Given the description of an element on the screen output the (x, y) to click on. 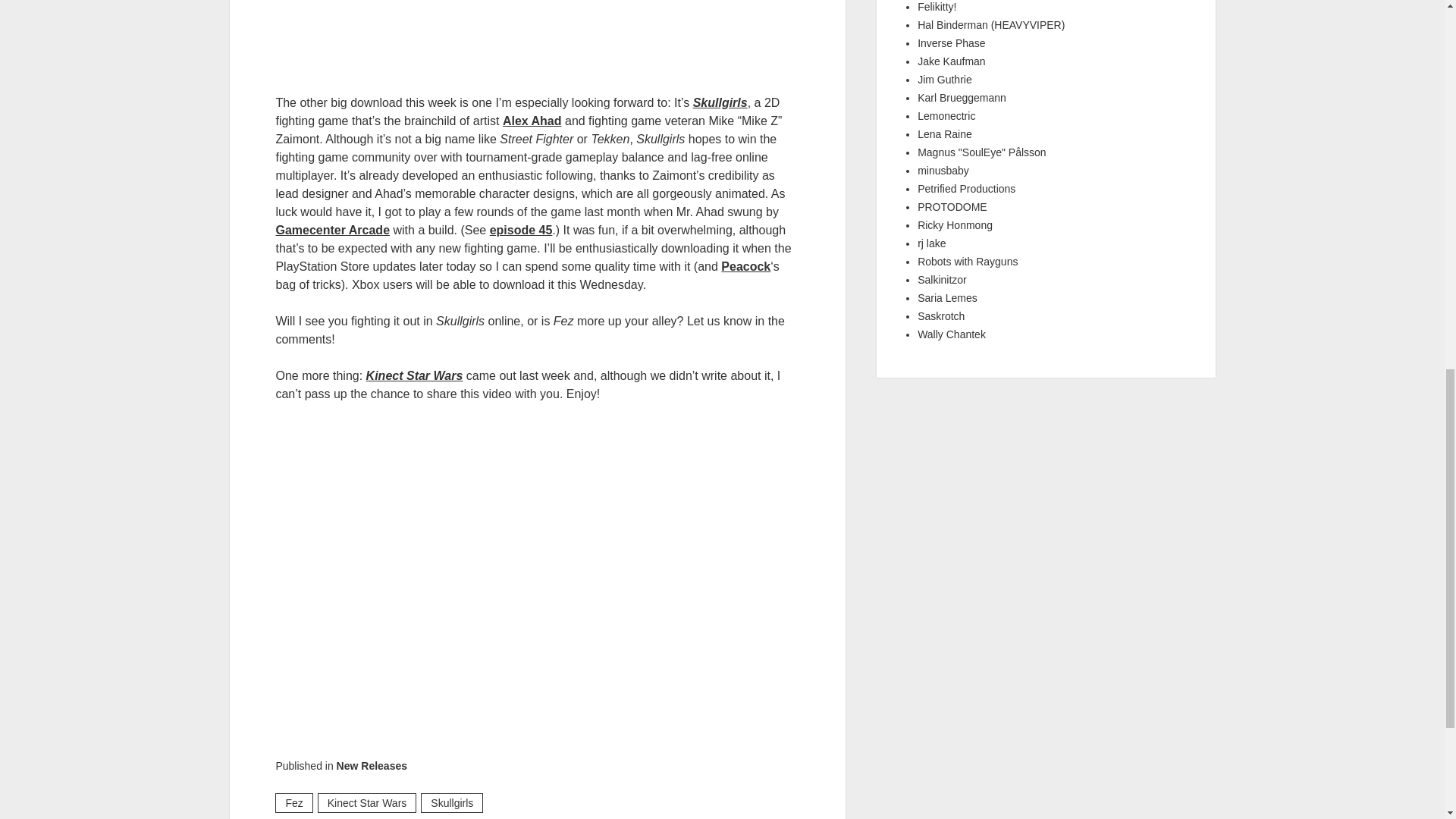
Peacock (745, 266)
Fez (294, 803)
Gamecenter Arcade (332, 229)
Skullgirls (537, 38)
Kinect Star Wars (366, 803)
View all posts in New Releases (371, 766)
Alex Ahad (532, 120)
Skullgirls (720, 102)
View all posts tagged Fez (294, 803)
episode 45 (521, 229)
Kinect Star Wars (414, 375)
New Releases (371, 766)
Skullgirls (451, 803)
View all posts tagged Kinect Star Wars (366, 803)
View all posts tagged Skullgirls (451, 803)
